Given the description of an element on the screen output the (x, y) to click on. 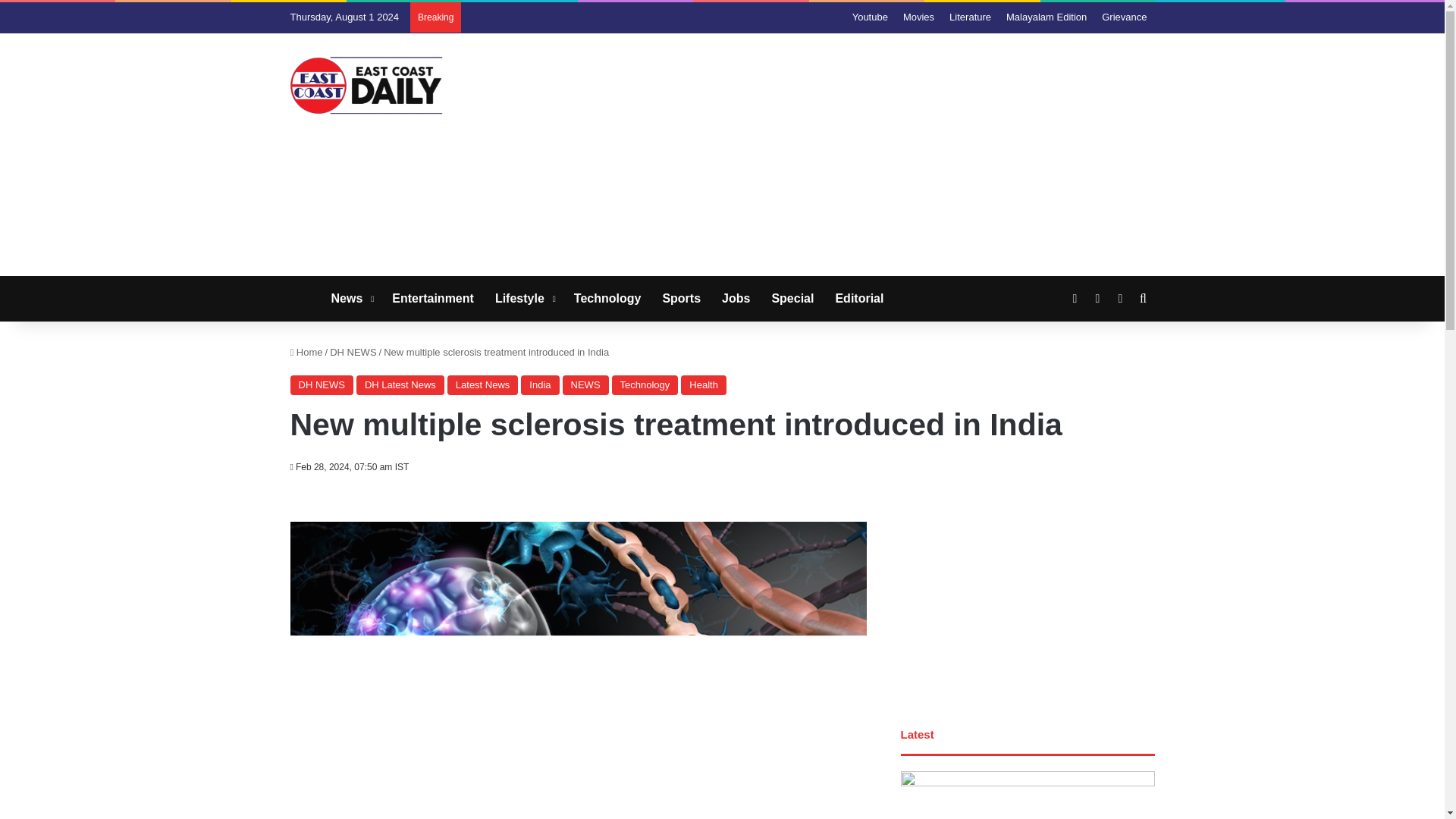
Literature (970, 17)
Jobs (735, 298)
Movies (918, 17)
Youtube (869, 17)
Sports (680, 298)
Editorial (858, 298)
News (350, 298)
Technology (607, 298)
Grievance (1124, 17)
Entertainment (432, 298)
Lifestyle (523, 298)
Special (792, 298)
Malayalam Edition (1046, 17)
